Given the description of an element on the screen output the (x, y) to click on. 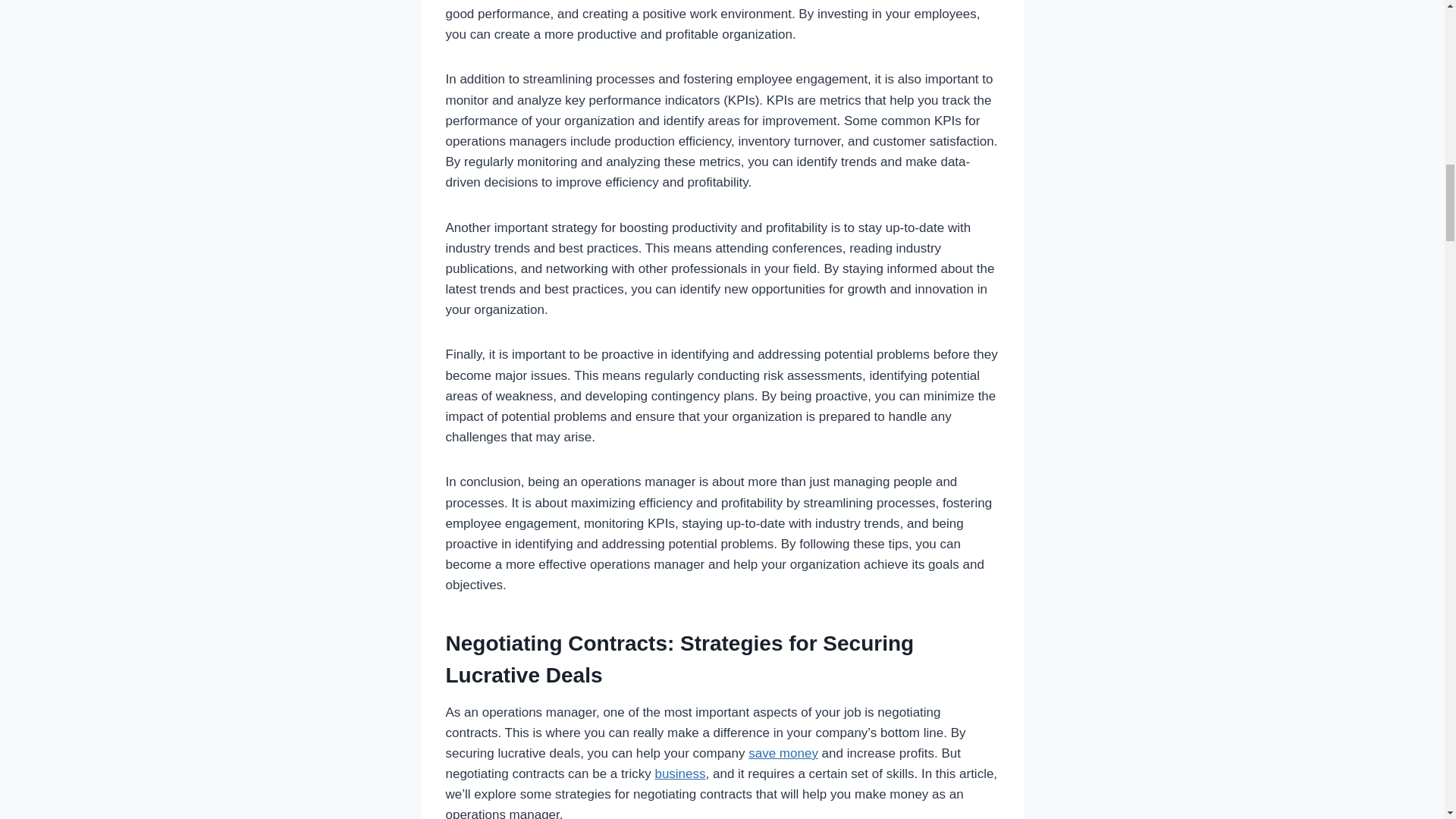
save money (783, 753)
save money (783, 753)
business (678, 773)
business (678, 773)
